Given the description of an element on the screen output the (x, y) to click on. 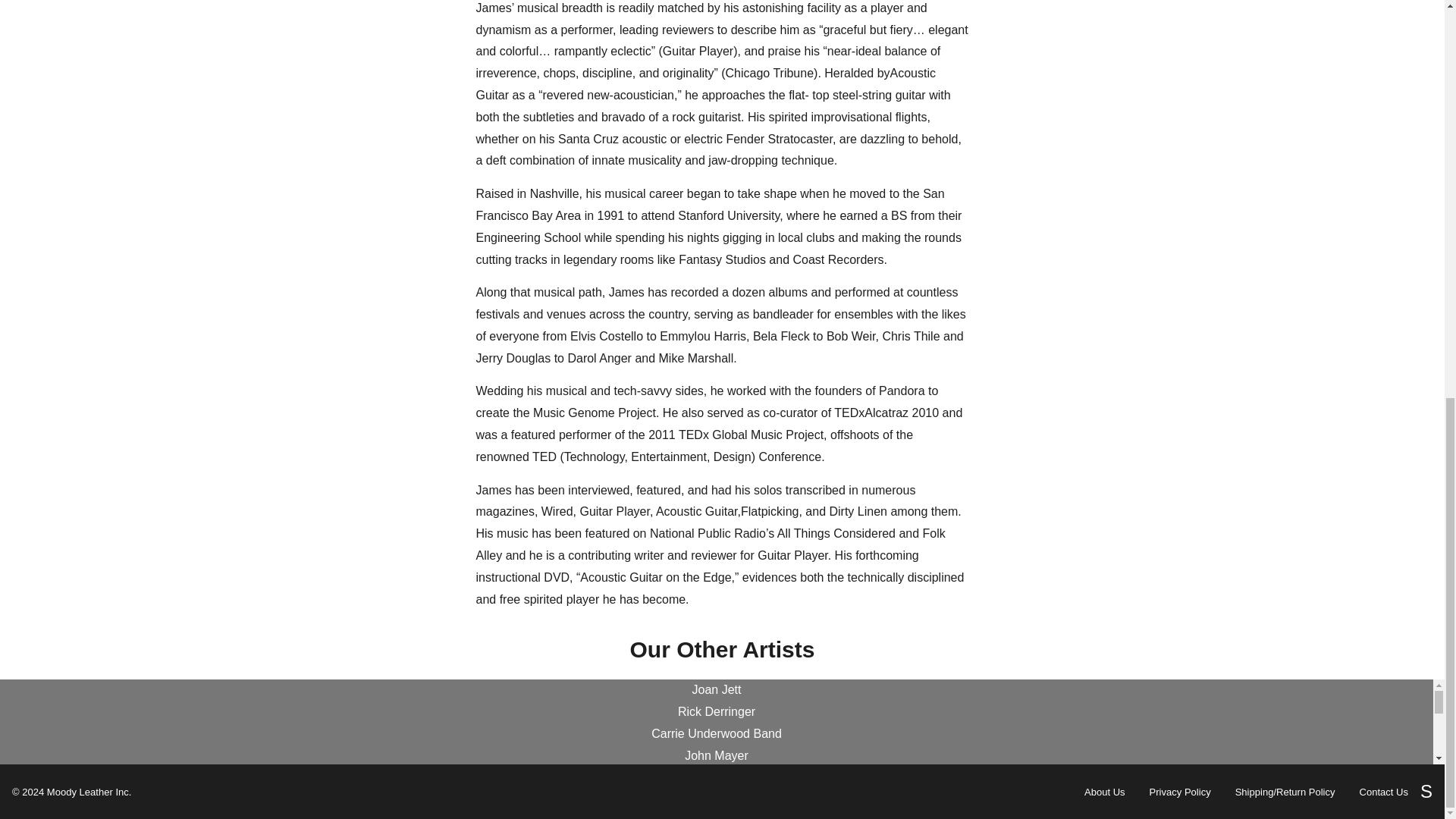
John Mayer (716, 756)
Site by 5D Spectrum (89, 791)
Rick Derringer (716, 712)
Joan Jett (717, 690)
Rick Derringer (716, 712)
Brad Paisley (716, 778)
Joan Jett (716, 690)
Joe Bonamassa (716, 799)
Carrie Underwood Band (715, 734)
Carrie Underwood Band (716, 734)
